Given the description of an element on the screen output the (x, y) to click on. 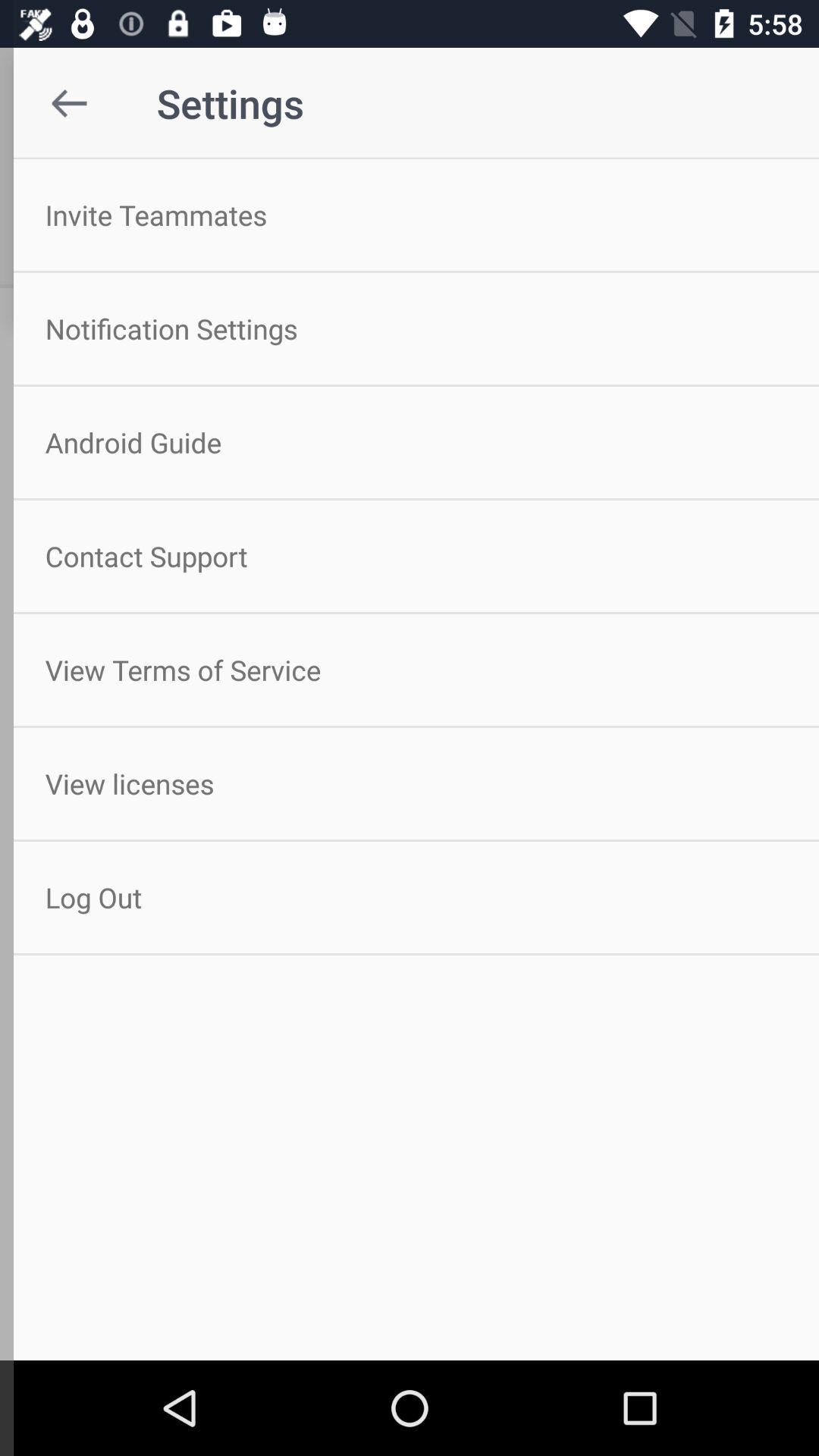
choose the item below view licenses (409, 897)
